Given the description of an element on the screen output the (x, y) to click on. 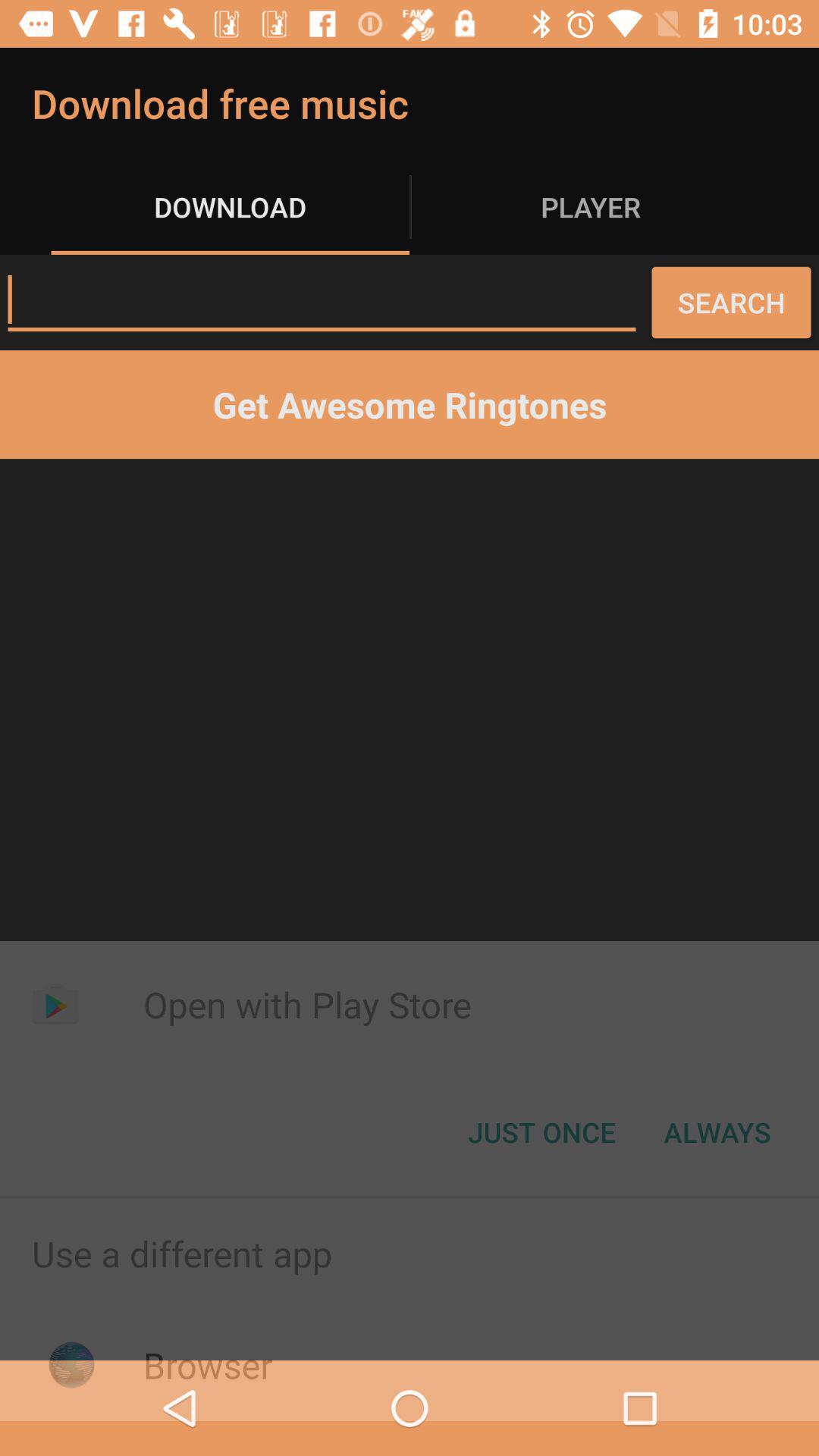
search (321, 300)
